Given the description of an element on the screen output the (x, y) to click on. 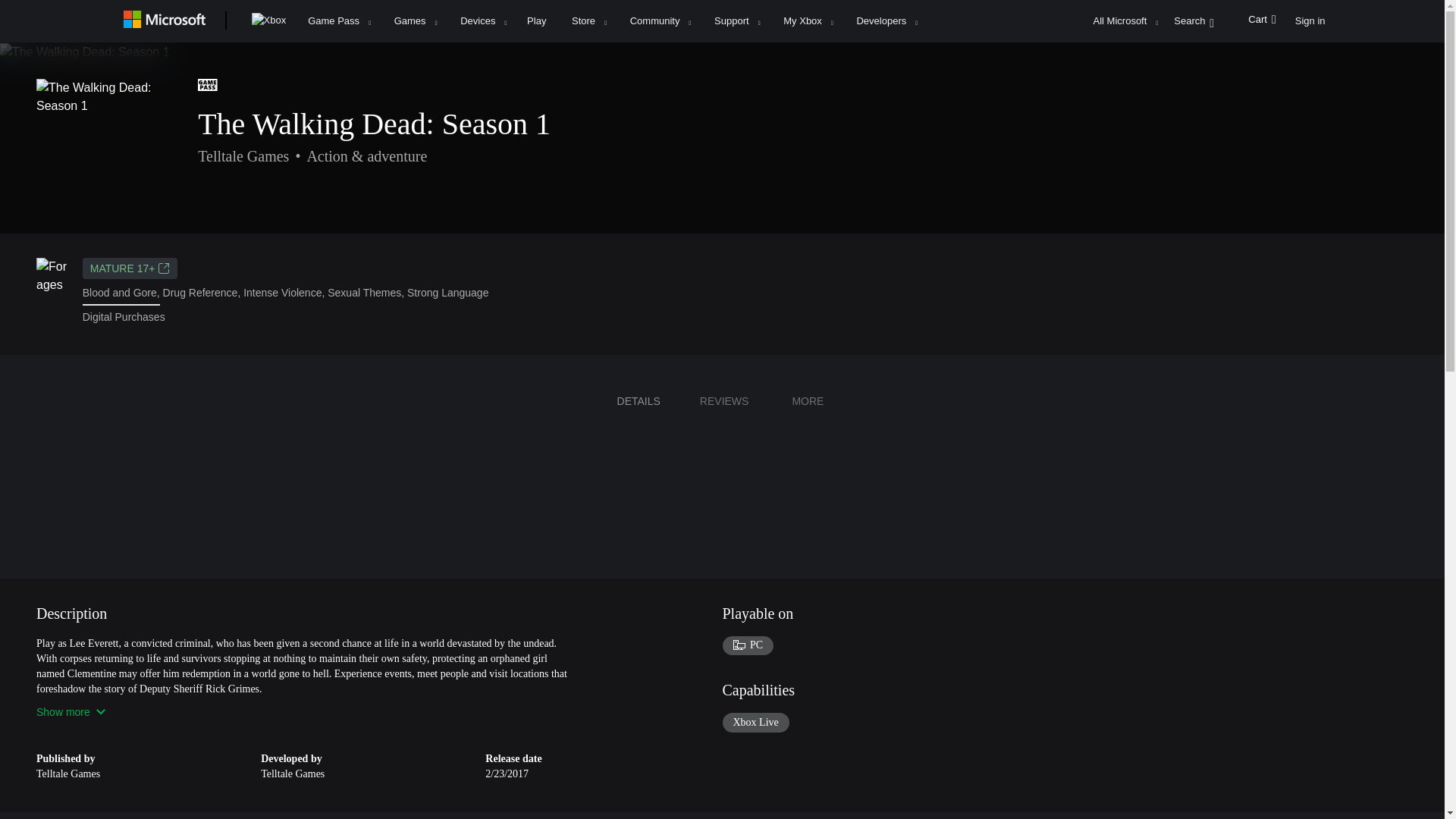
Game Pass (338, 20)
Games (415, 20)
Devices (482, 20)
Microsoft (167, 20)
Game Pass (207, 84)
